Given the description of an element on the screen output the (x, y) to click on. 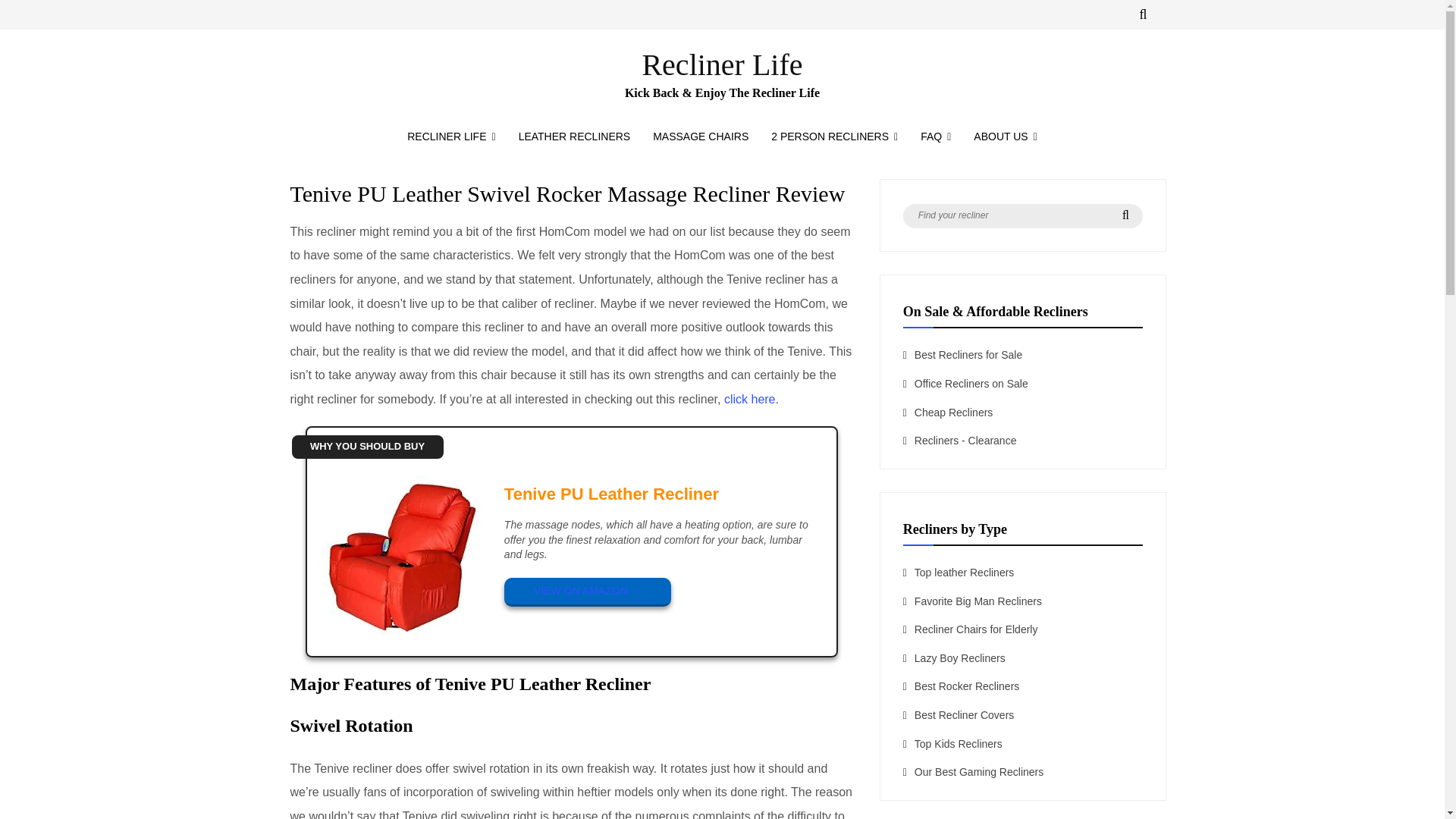
MASSAGE CHAIRS (701, 136)
2 PERSON RECLINERS (834, 136)
RECLINER LIFE (451, 136)
FAQ (935, 136)
ABOUT US (1005, 136)
click here (749, 399)
LEATHER RECLINERS (574, 136)
